Given the description of an element on the screen output the (x, y) to click on. 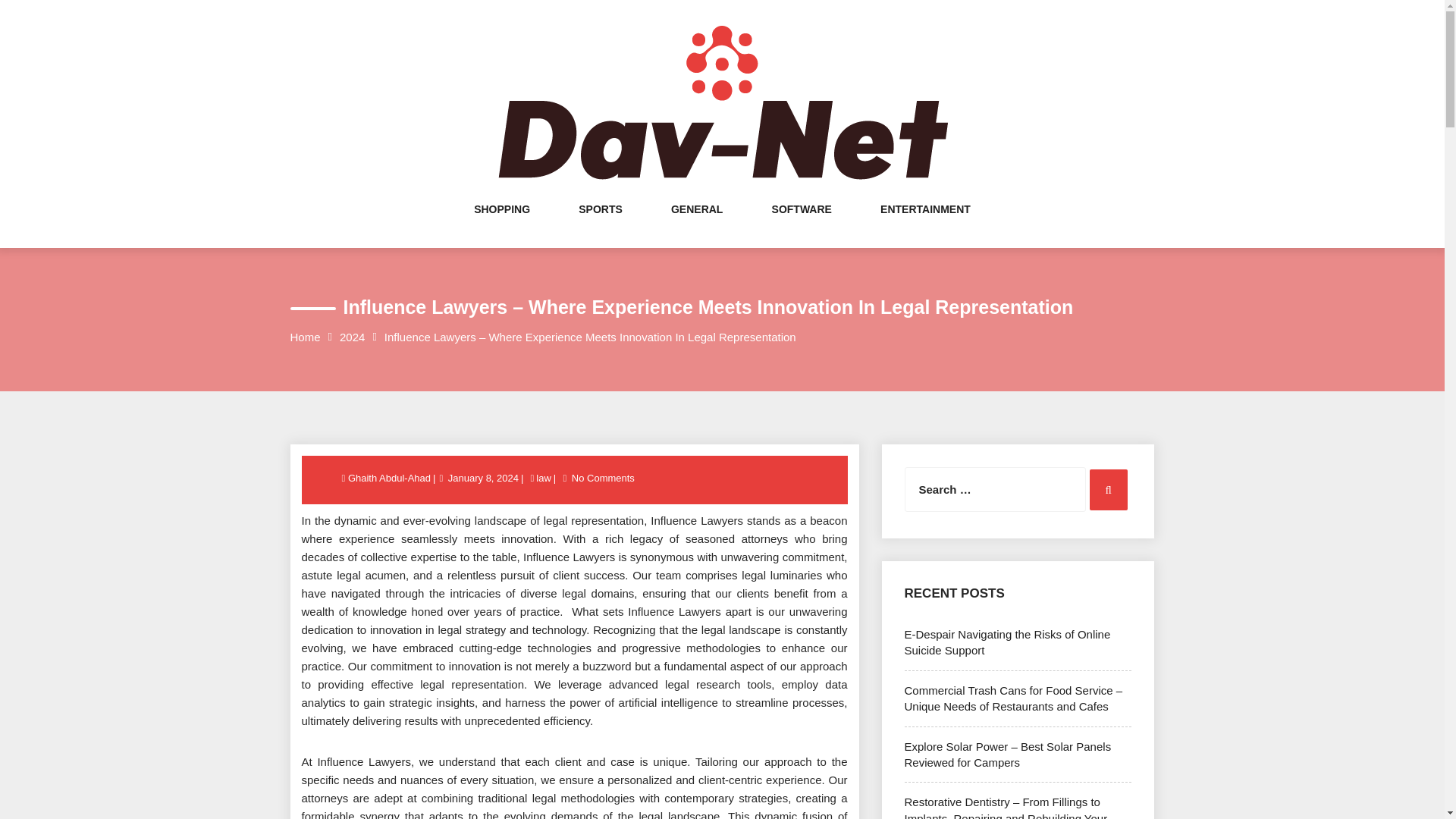
January 8, 2024 (483, 478)
E-Despair Navigating the Risks of Online Suicide Support (1006, 642)
Search (1107, 489)
GENERAL (696, 225)
SOFTWARE (801, 225)
SPORTS (600, 225)
SHOPPING (501, 225)
Ghaith Abdul-Ahad (389, 478)
No Comments (603, 478)
Home (304, 336)
ENTERTAINMENT (925, 225)
2024 (352, 336)
law (543, 478)
